Given the description of an element on the screen output the (x, y) to click on. 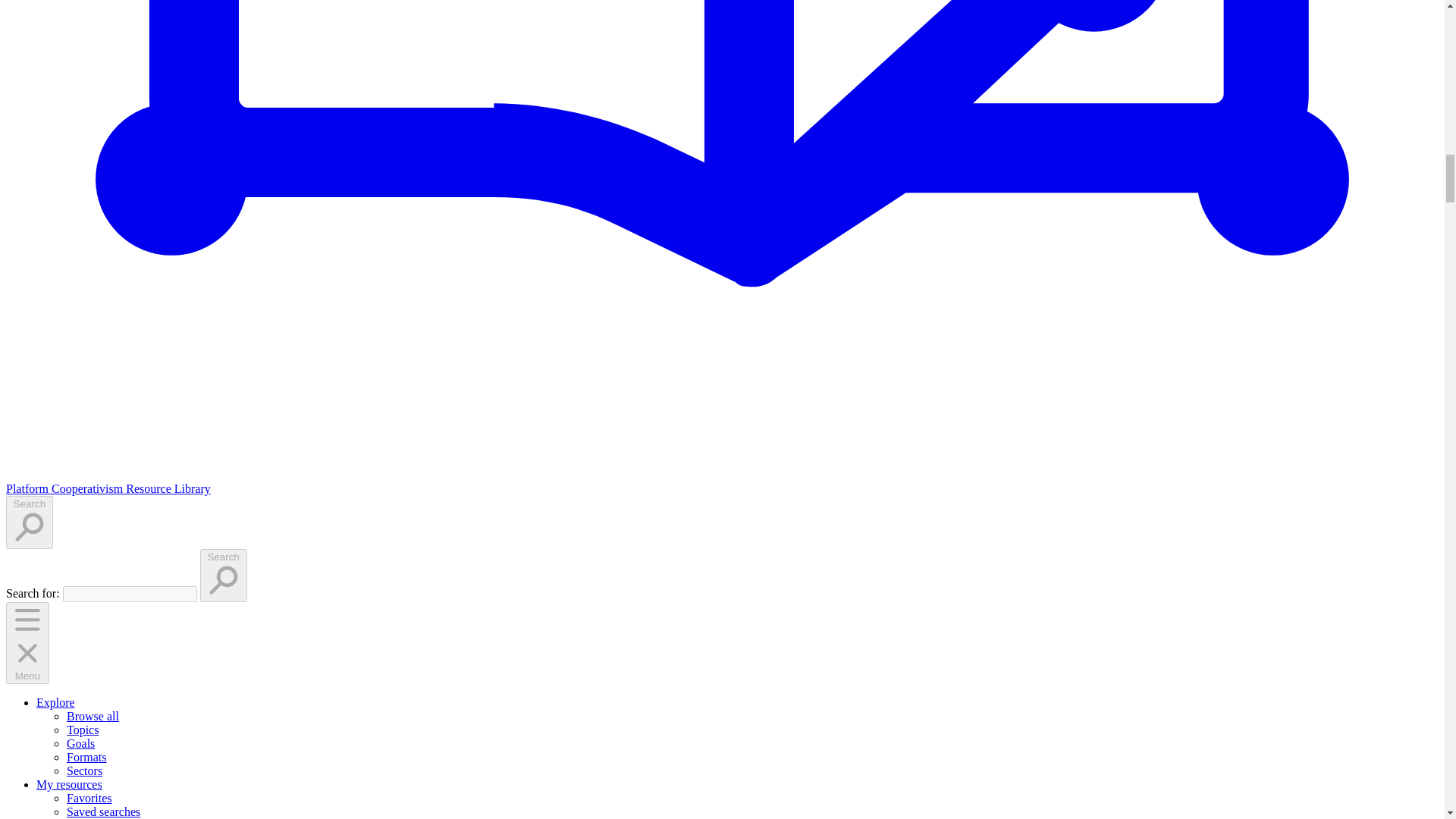
Goals (80, 743)
Formats (86, 757)
Saved searches (102, 811)
My resources (68, 784)
Topics (82, 729)
Favorites (89, 797)
Sectors (83, 770)
Browse all (92, 716)
Explore (55, 702)
